Given the description of an element on the screen output the (x, y) to click on. 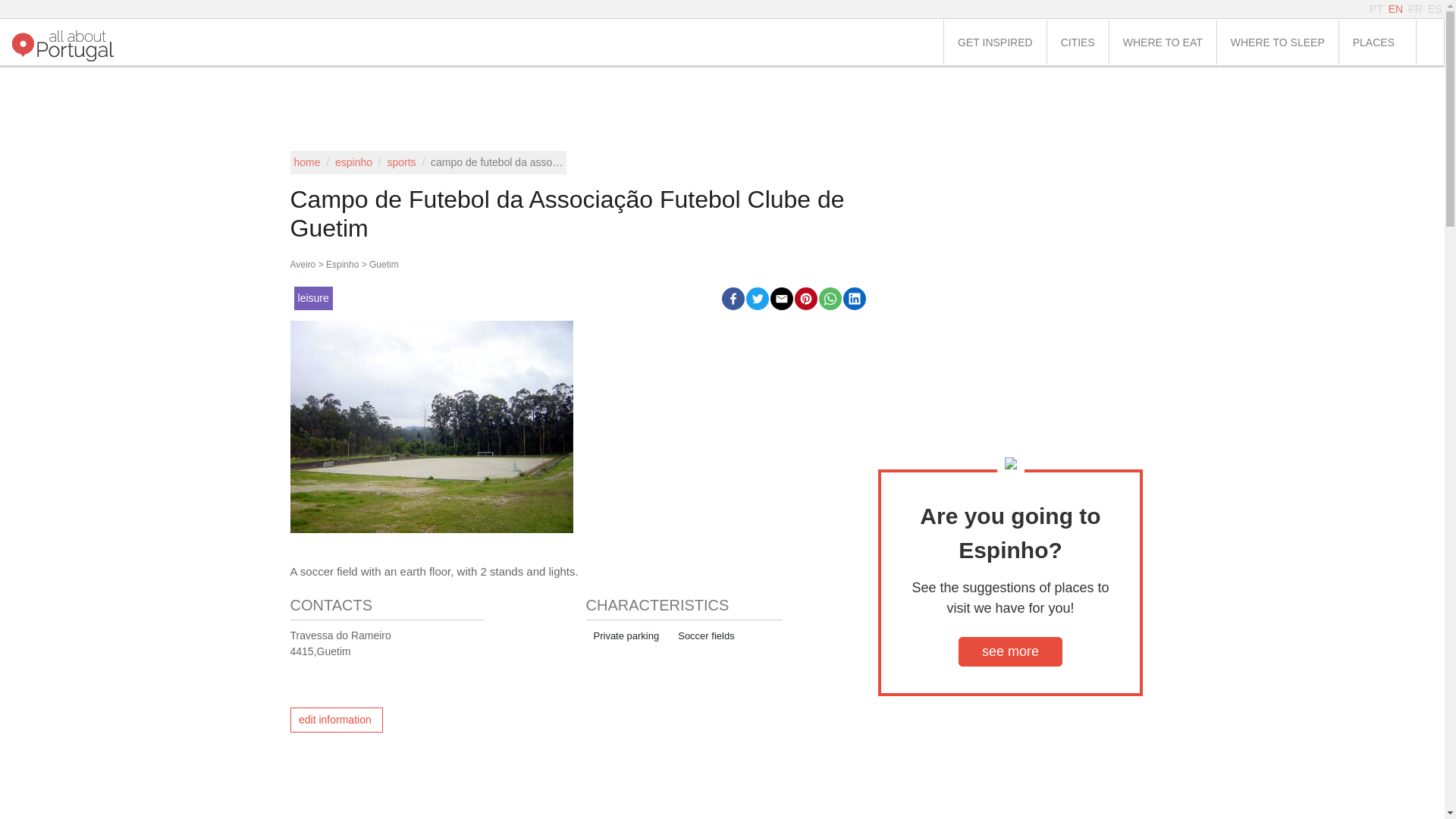
type (703, 635)
PT (1376, 9)
CITIES (1077, 41)
espinho (353, 162)
sports (400, 162)
home (307, 162)
PLACES (1377, 41)
FR (1414, 9)
WHERE TO SLEEP (1277, 41)
ES (1435, 9)
WHERE TO EAT (1162, 41)
leisure (313, 297)
edit information  (335, 720)
parking (623, 635)
EN (1396, 9)
